Given the description of an element on the screen output the (x, y) to click on. 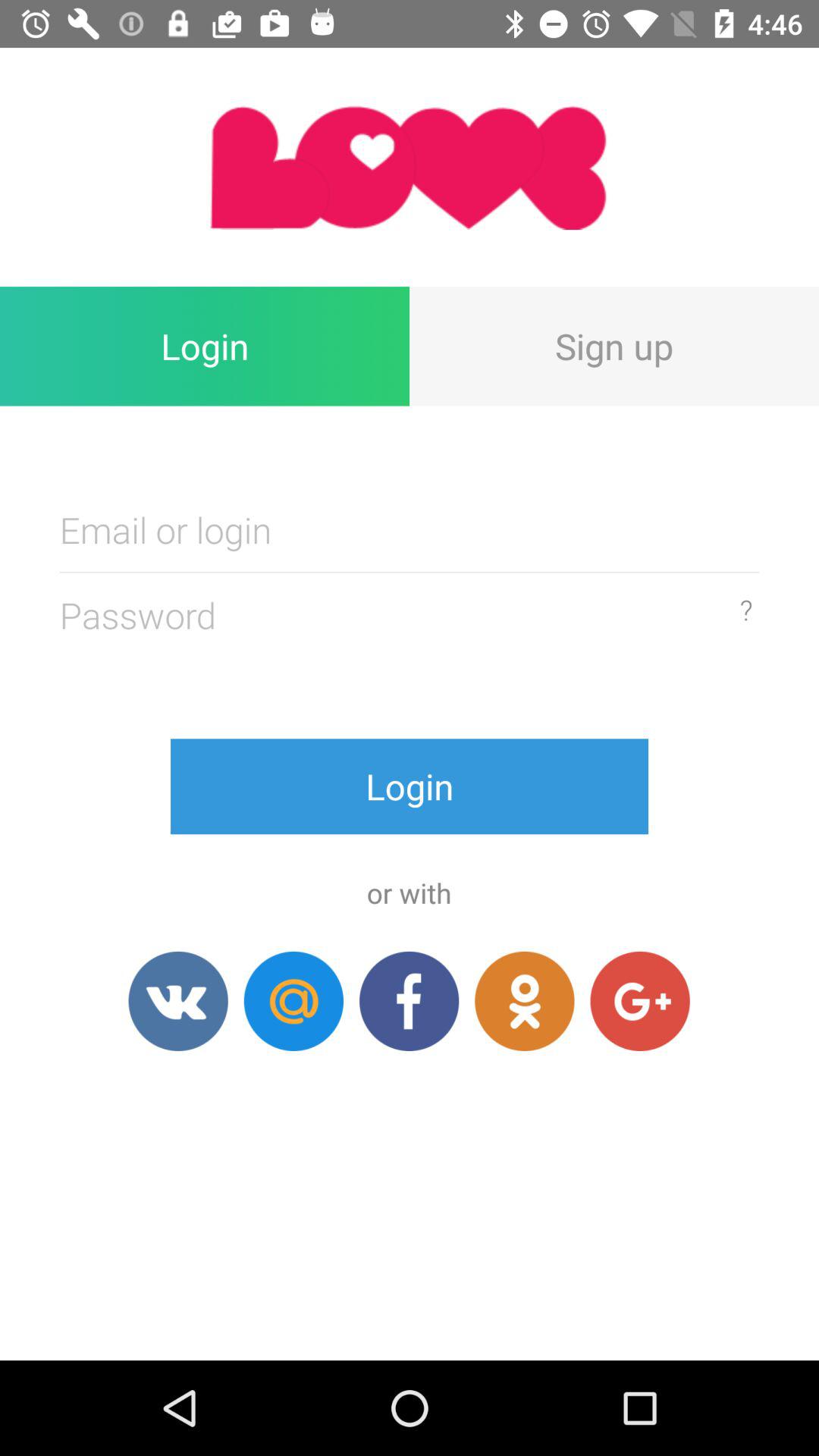
select button below login (524, 1001)
